Given the description of an element on the screen output the (x, y) to click on. 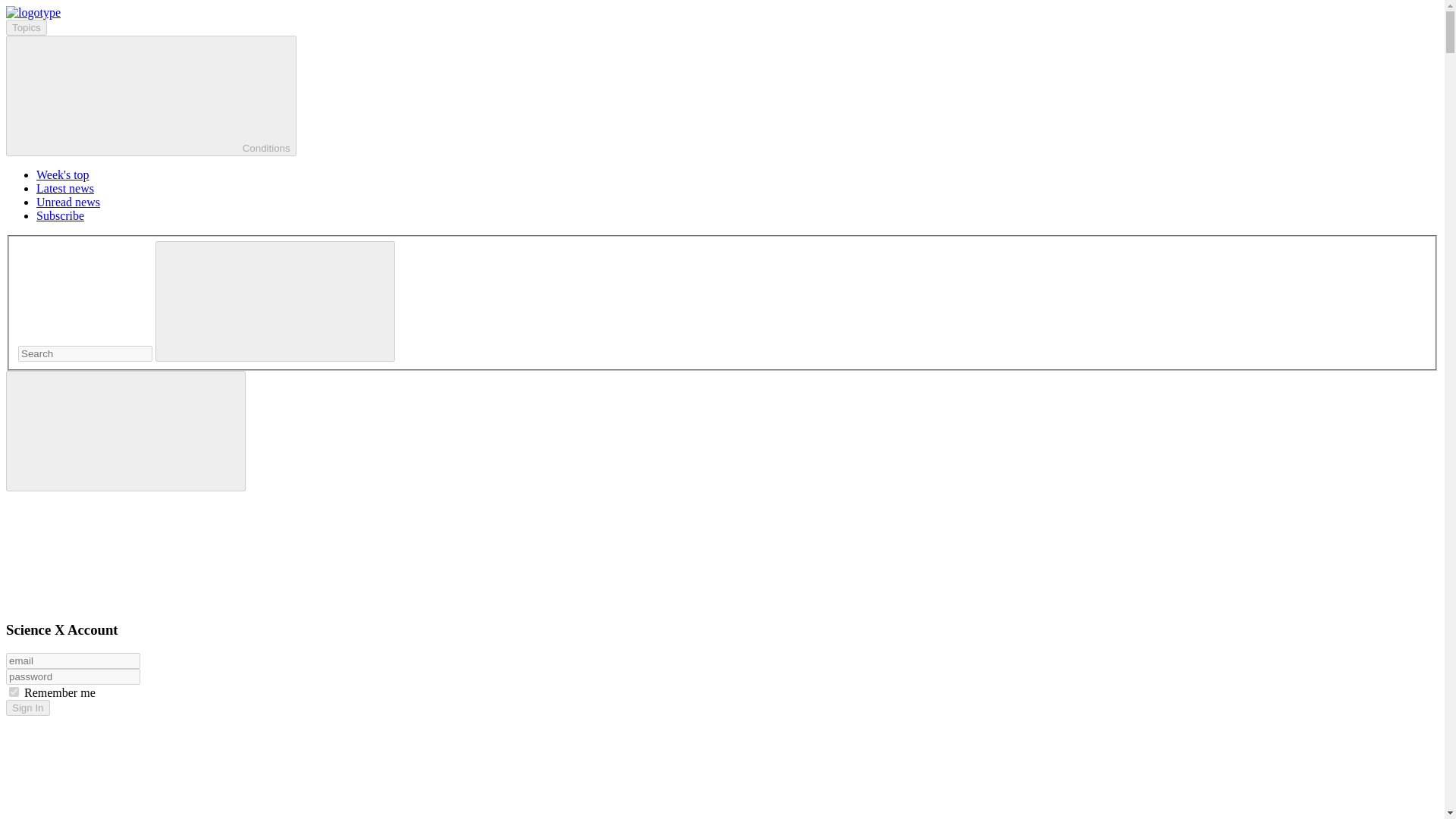
Topics (25, 27)
on (13, 691)
Sign In (27, 707)
Unread news (68, 201)
Conditions (151, 96)
Latest news (65, 187)
Subscribe (60, 215)
Week's top (62, 174)
